Given the description of an element on the screen output the (x, y) to click on. 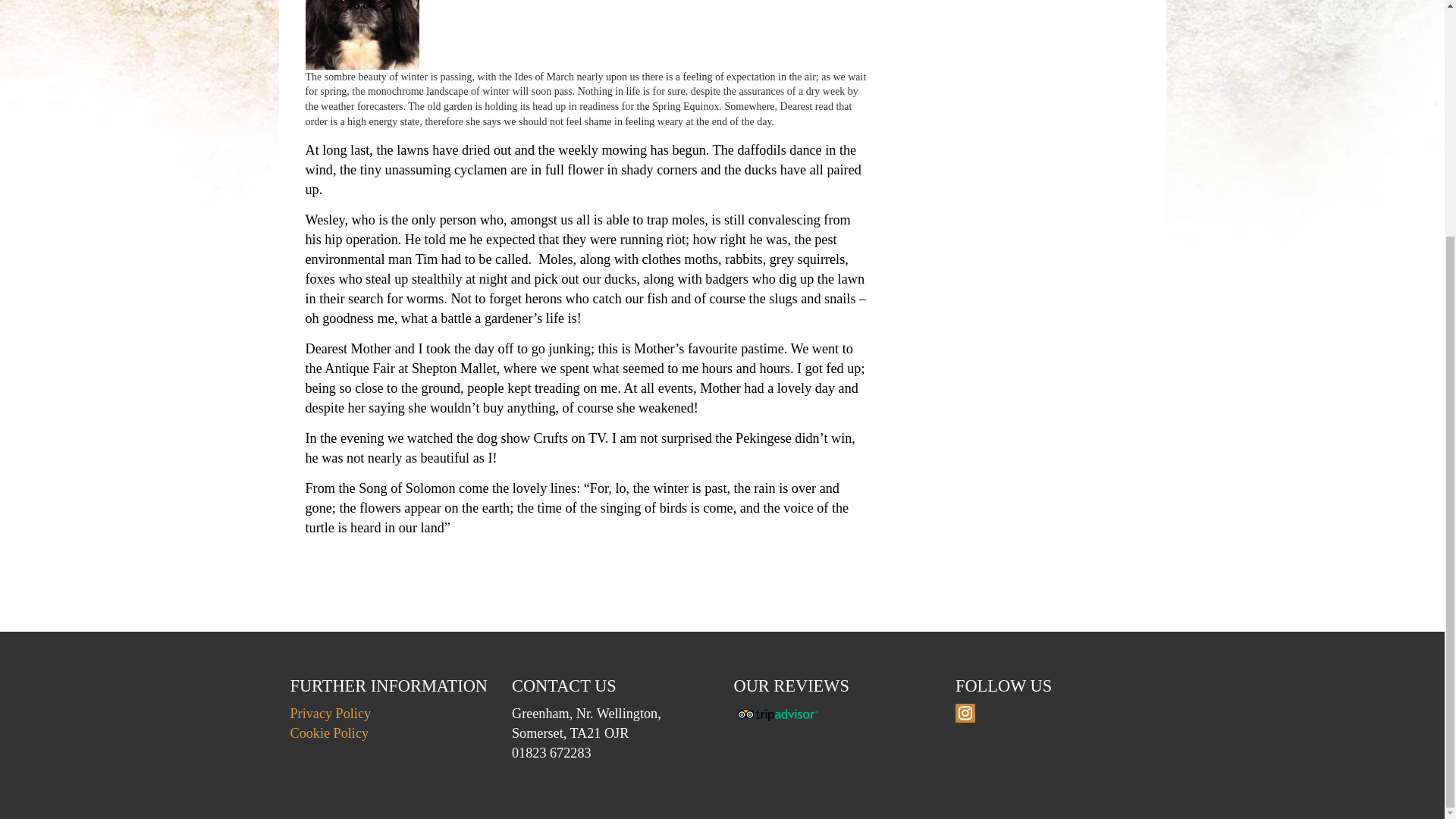
Find us on Instagram (965, 712)
Privacy Policy (330, 713)
Cookie Policy (328, 733)
